Given the description of an element on the screen output the (x, y) to click on. 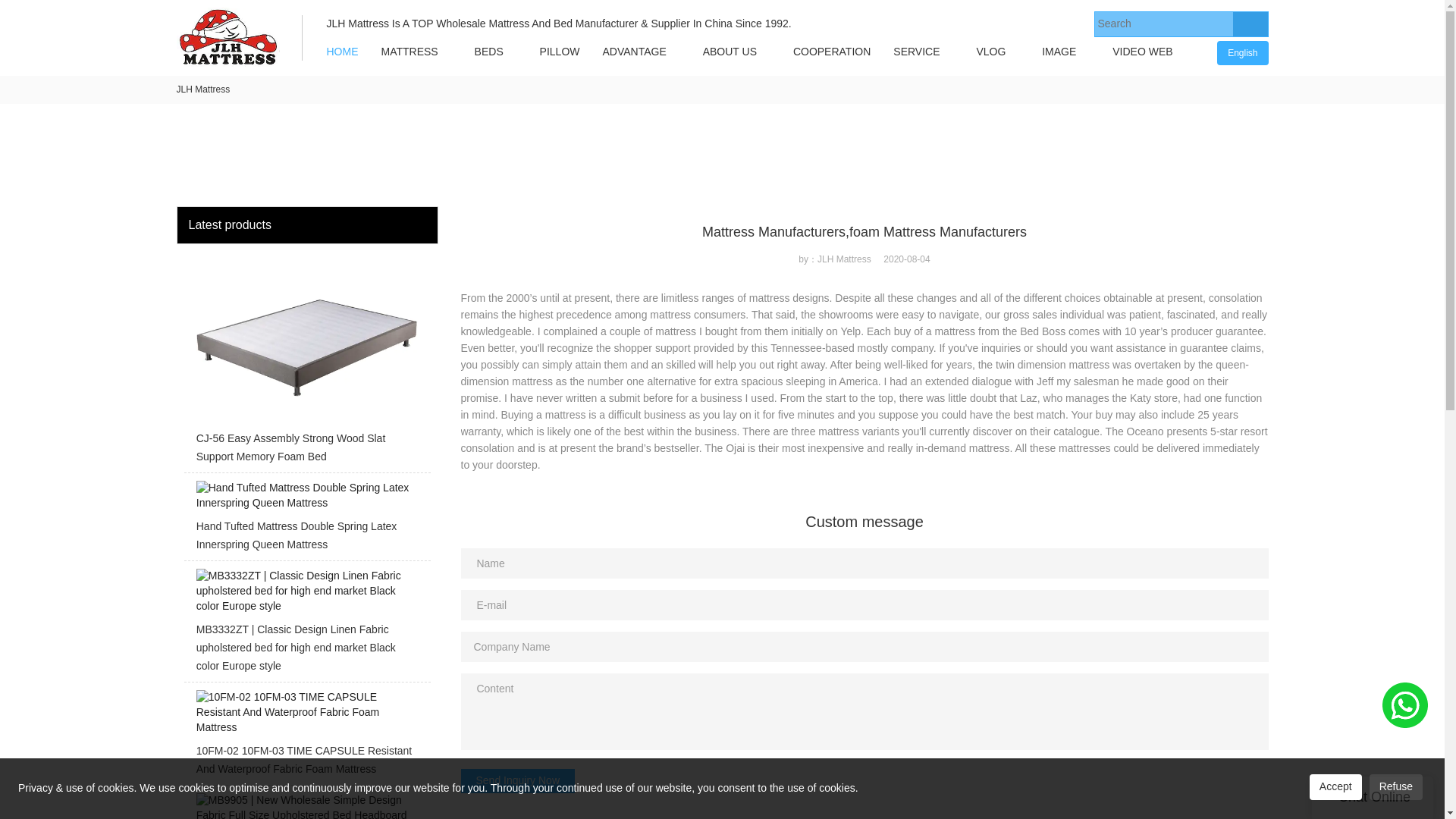
PILLOW (559, 51)
HOME (342, 51)
SERVICE (916, 51)
BEDS (489, 51)
COOPERATION (831, 51)
ABOUT US (729, 51)
MATTRESS (409, 51)
ADVANTAGE (634, 51)
IMAGE (1058, 51)
VLOG (989, 51)
